Given the description of an element on the screen output the (x, y) to click on. 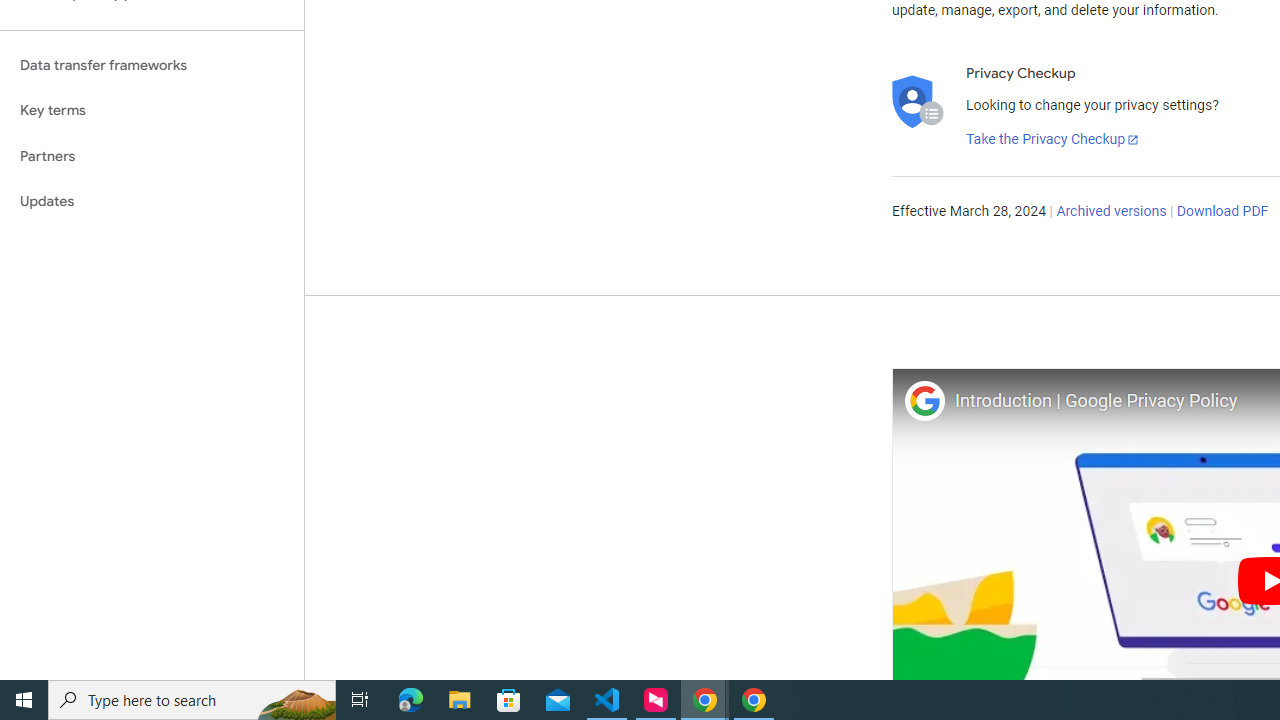
Take the Privacy Checkup (1053, 140)
Download PDF (1222, 212)
Partners (152, 156)
Photo image of Google (924, 400)
Data transfer frameworks (152, 65)
Key terms (152, 110)
Archived versions (1111, 212)
